Given the description of an element on the screen output the (x, y) to click on. 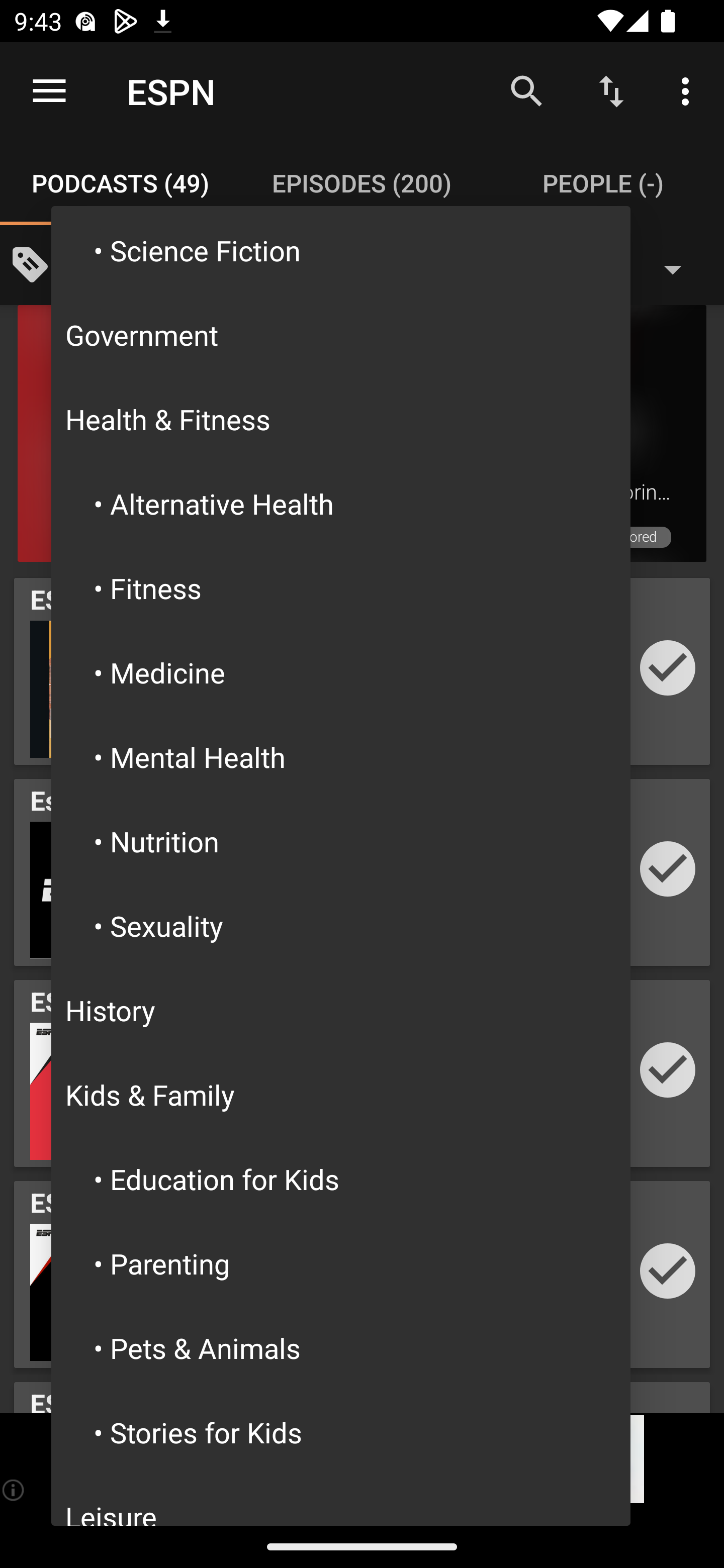
    • Science Fiction (340, 250)
Government (340, 334)
Health & Fitness (340, 418)
    • Alternative Health (340, 502)
    • Fitness (340, 587)
    • Medicine (340, 672)
    • Mental Health (340, 757)
    • Nutrition (340, 840)
    • Sexuality (340, 924)
History (340, 1009)
Kids & Family (340, 1094)
    • Education for Kids (340, 1178)
    • Parenting (340, 1263)
    • Pets & Animals (340, 1348)
    • Stories for Kids (340, 1431)
